Given the description of an element on the screen output the (x, y) to click on. 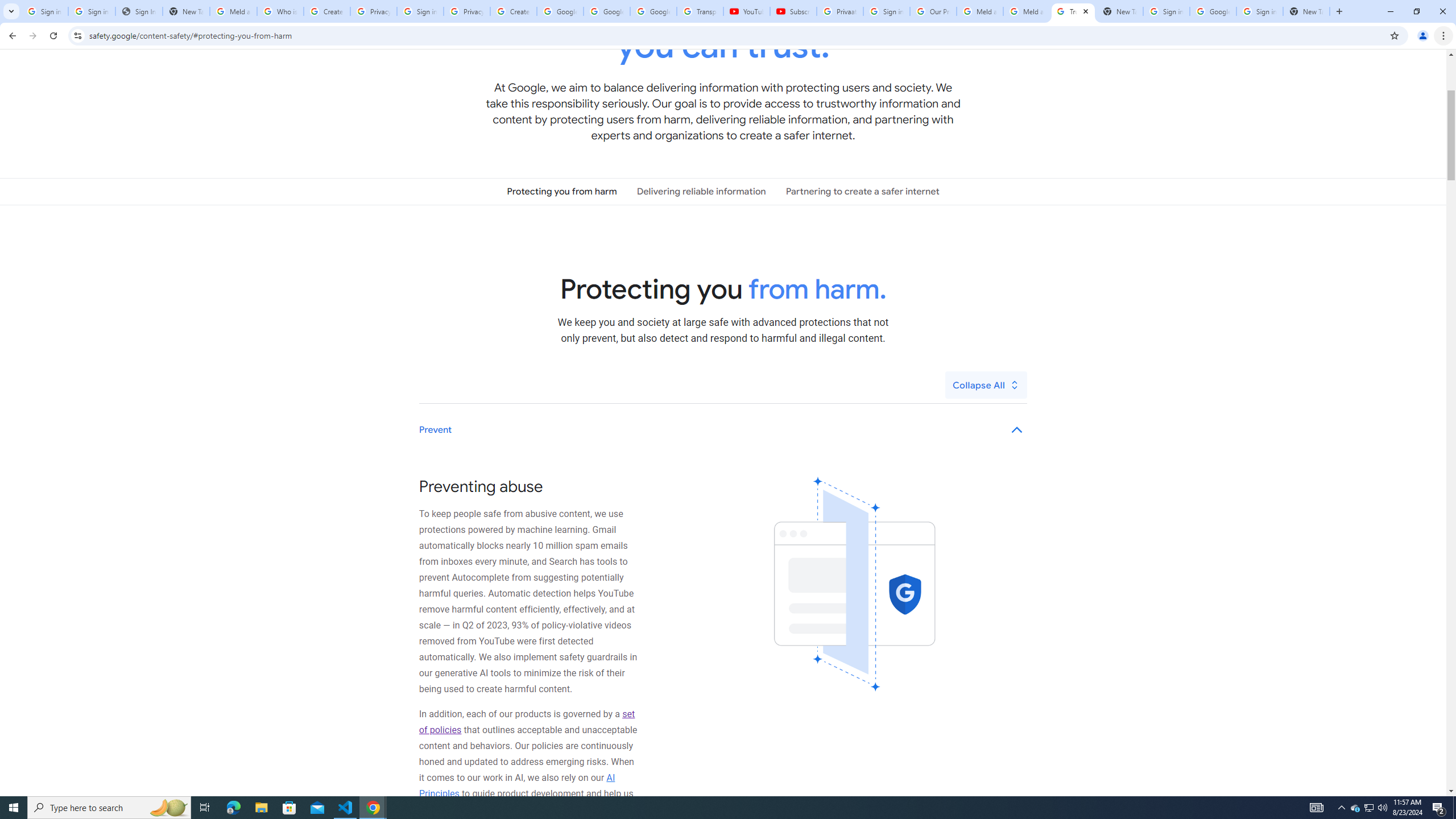
Sign in - Google Accounts (1166, 11)
Trusted Information and Content - Google Safety Center (1073, 11)
Sign in - Google Accounts (886, 11)
Create your Google Account (512, 11)
Sign in - Google Accounts (44, 11)
Subscriptions - YouTube (792, 11)
Google Cybersecurity Innovations - Google Safety Center (1213, 11)
Sign in - Google Accounts (419, 11)
Prevent (723, 429)
